Given the description of an element on the screen output the (x, y) to click on. 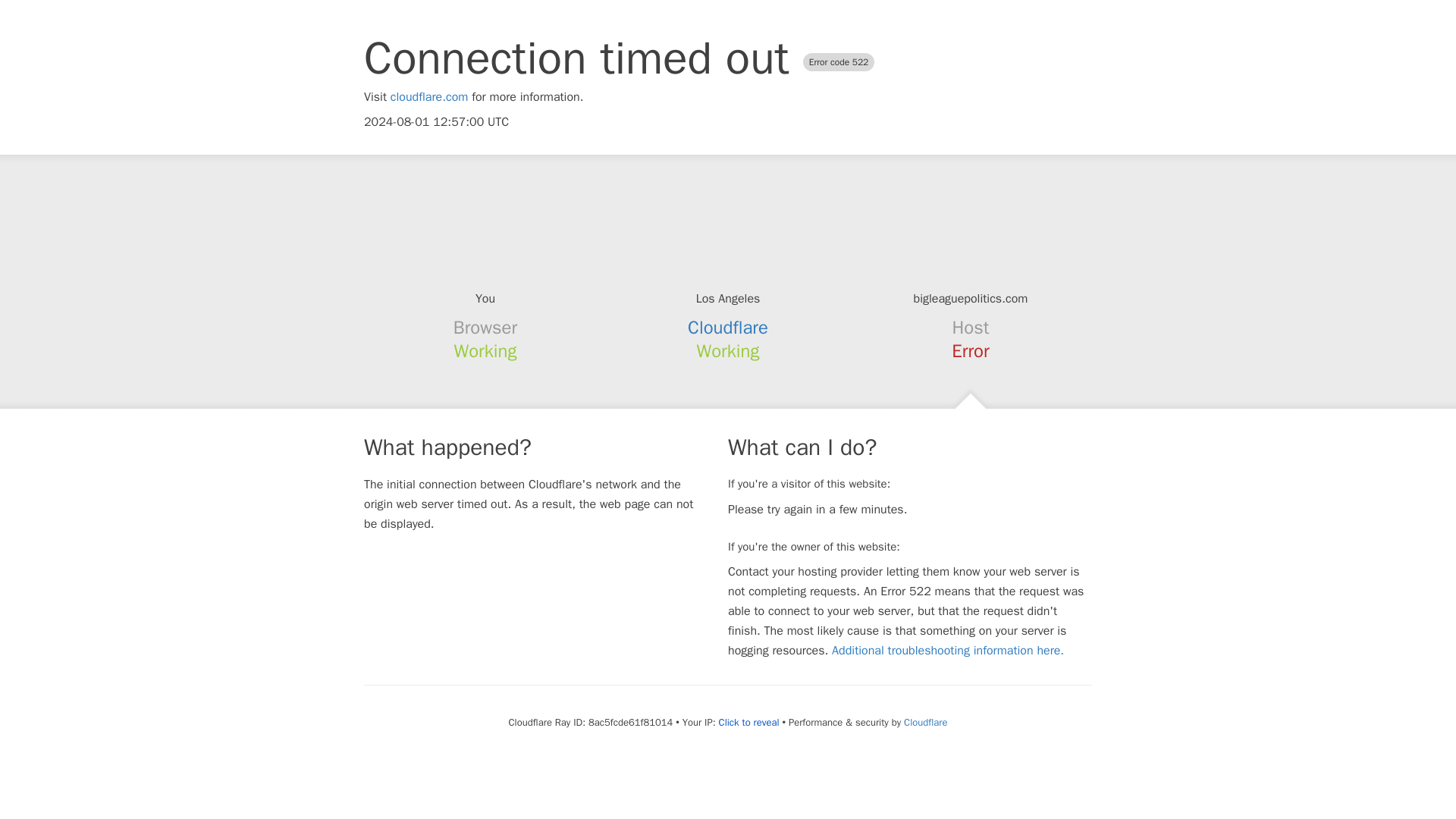
Cloudflare (727, 327)
Additional troubleshooting information here. (947, 650)
Click to reveal (748, 722)
cloudflare.com (429, 96)
Cloudflare (925, 721)
